Given the description of an element on the screen output the (x, y) to click on. 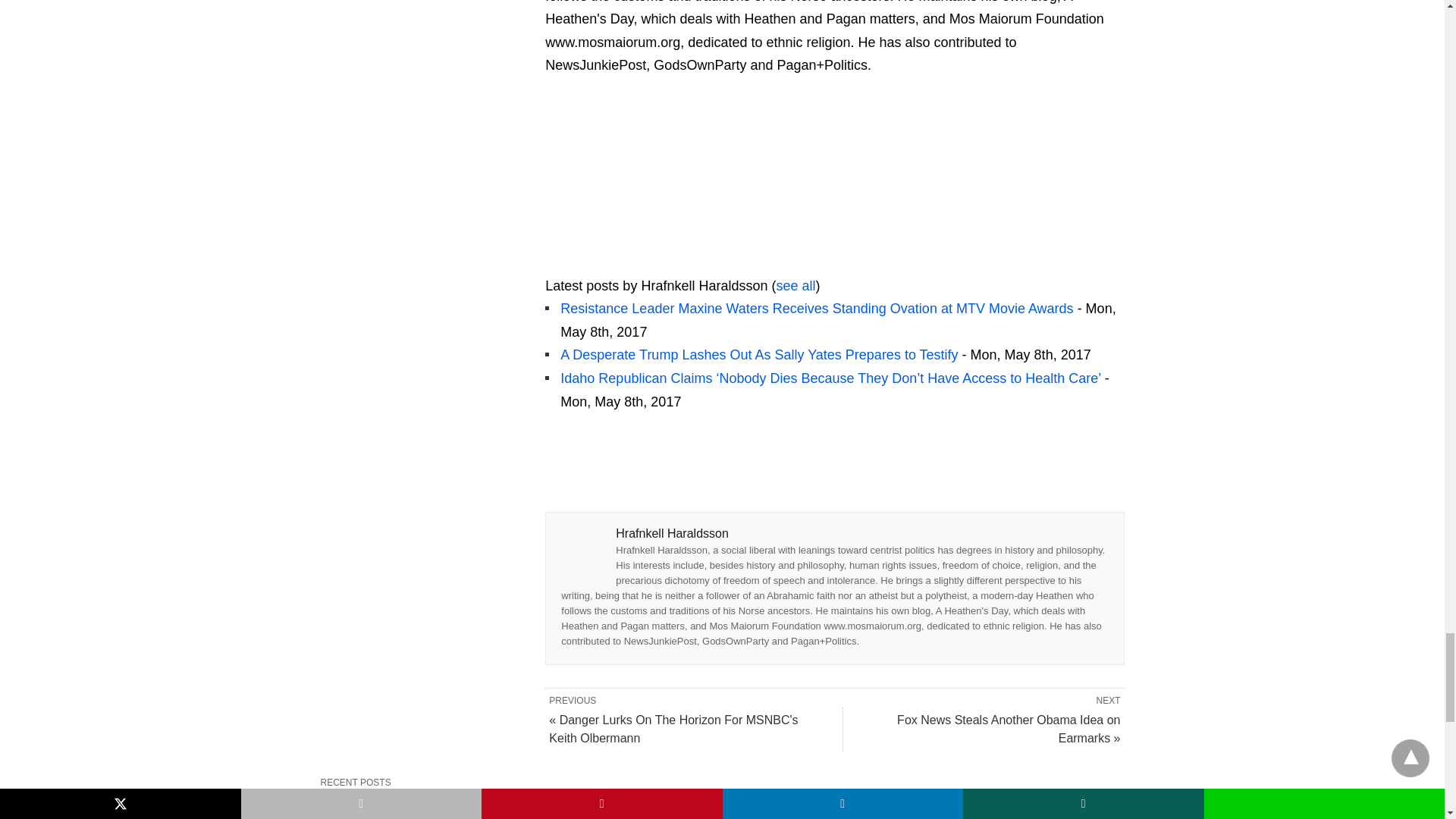
see all (795, 285)
Hrafnkell Haraldsson (639, 262)
